Given the description of an element on the screen output the (x, y) to click on. 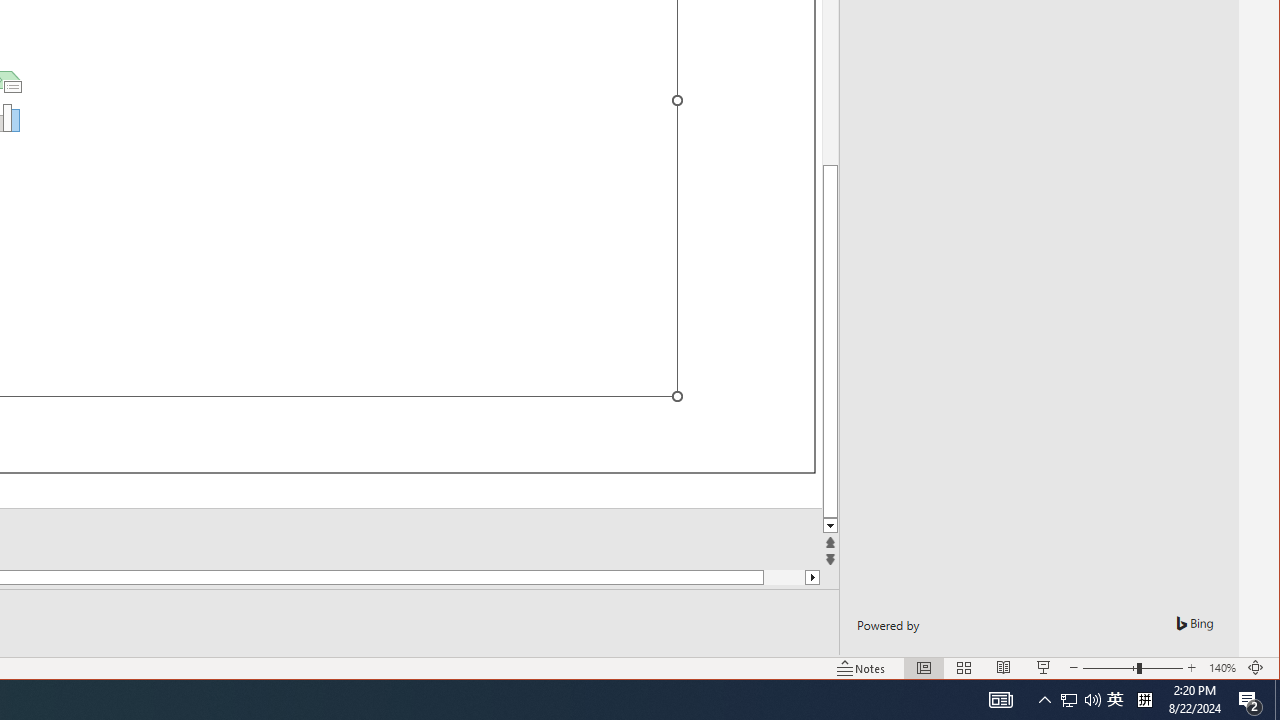
Zoom to Fit  (1256, 668)
Page down (764, 577)
Show desktop (1277, 699)
Tray Input Indicator - Chinese (Simplified, China) (1144, 699)
Q2790: 100% (1092, 699)
Zoom 140% (1222, 668)
Slide Sorter (964, 668)
